Given the description of an element on the screen output the (x, y) to click on. 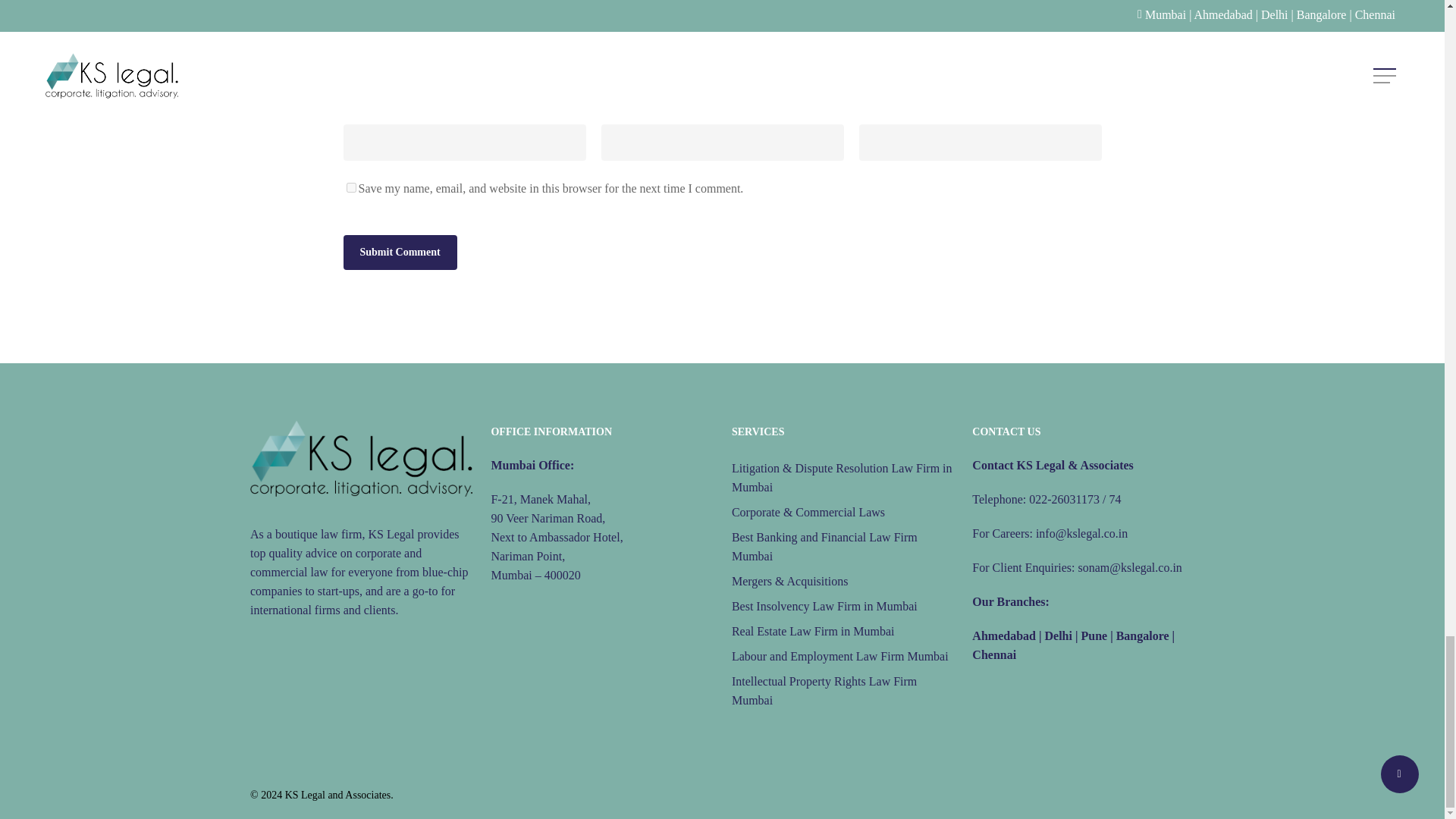
yes (350, 187)
Submit Comment (399, 252)
Submit Comment (399, 252)
